Given the description of an element on the screen output the (x, y) to click on. 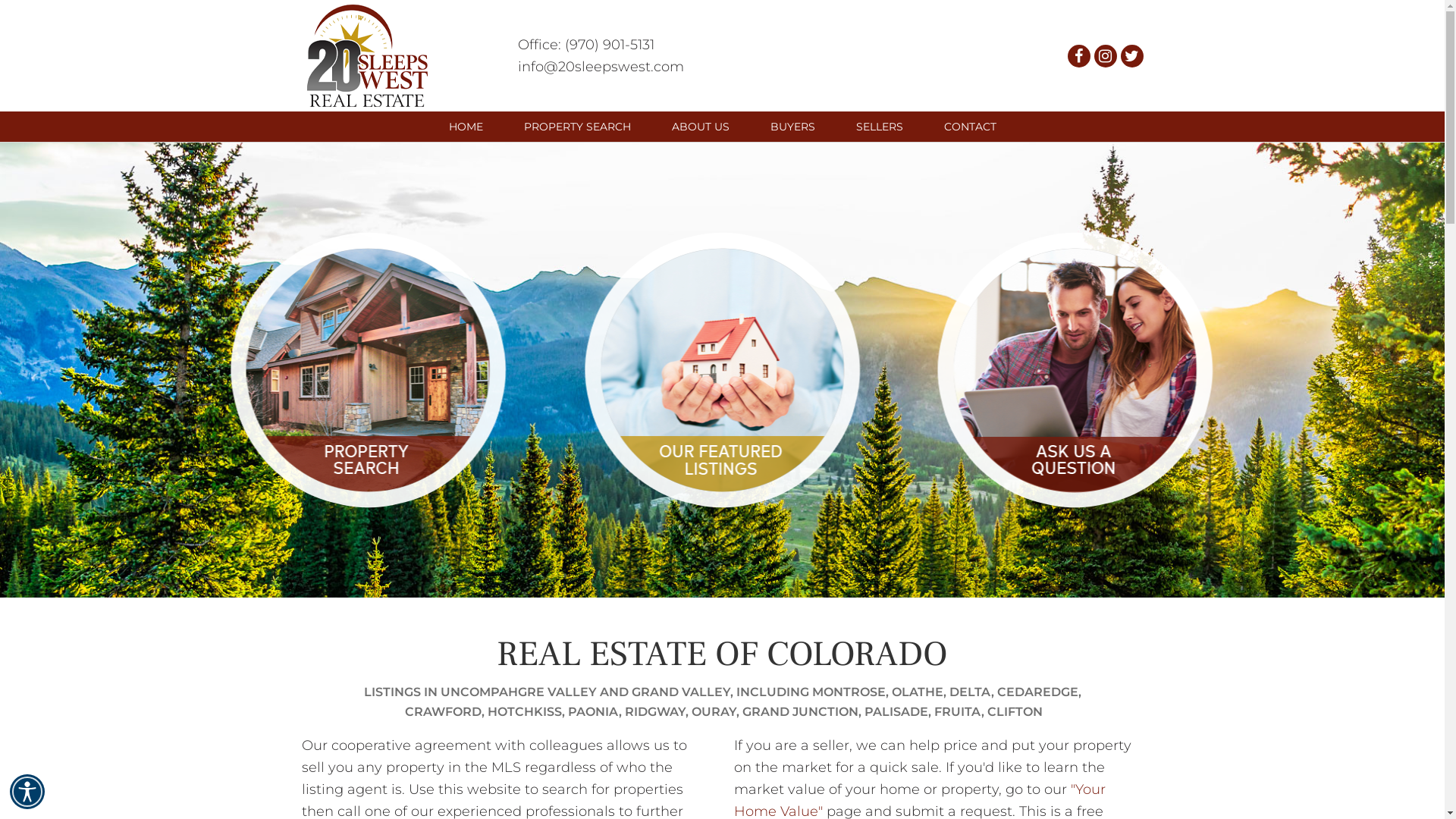
SELLERS Element type: text (879, 126)
Office: (970) 901-5131 Element type: text (585, 44)
BUYERS Element type: text (791, 126)
info@20sleepswest.com Element type: text (600, 65)
HOME Element type: text (464, 126)
ABOUT US Element type: text (699, 126)
CONTACT Element type: text (969, 126)
PROPERTY SEARCH Element type: text (577, 126)
